Given the description of an element on the screen output the (x, y) to click on. 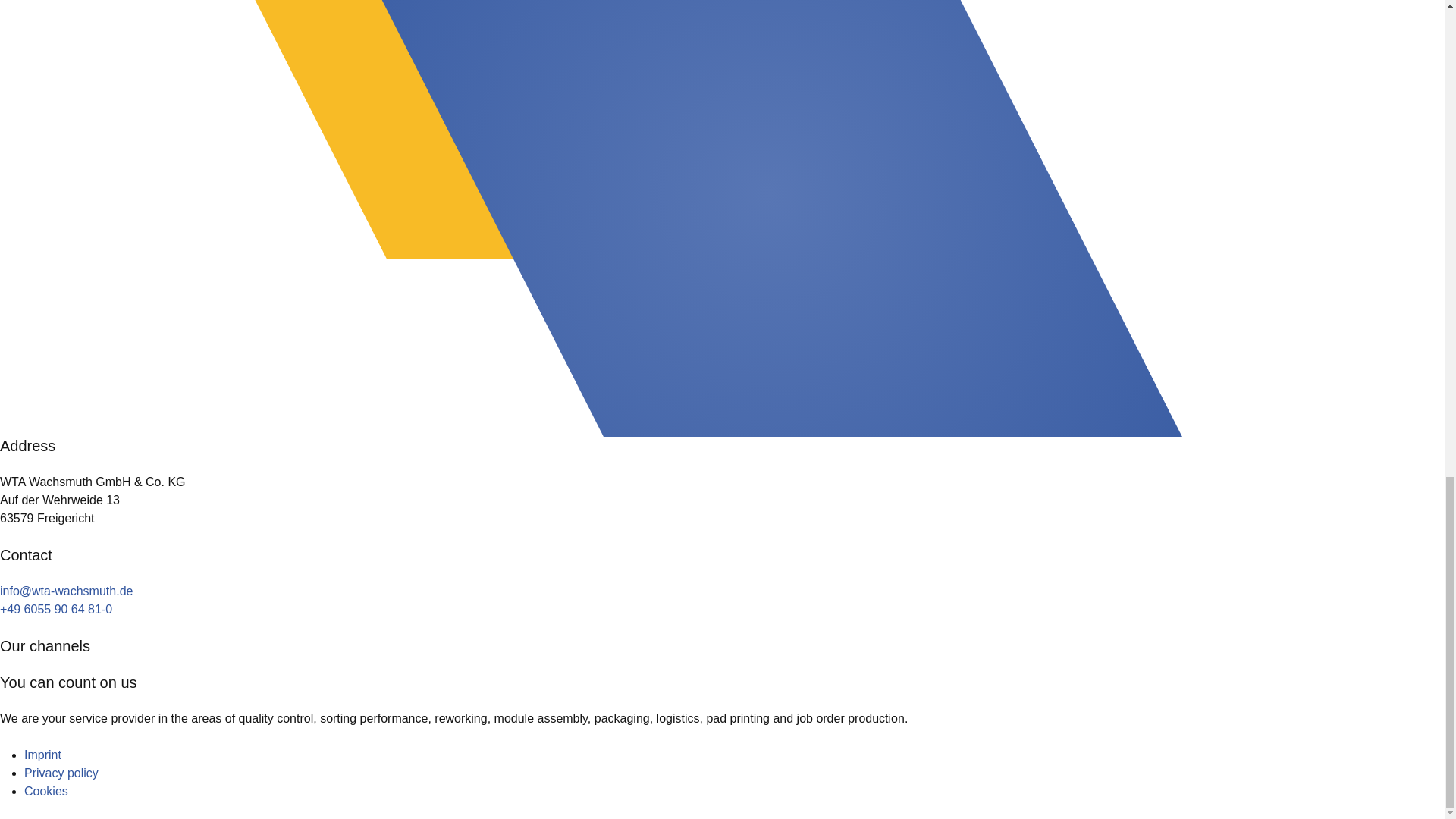
Imprint (42, 754)
